Given the description of an element on the screen output the (x, y) to click on. 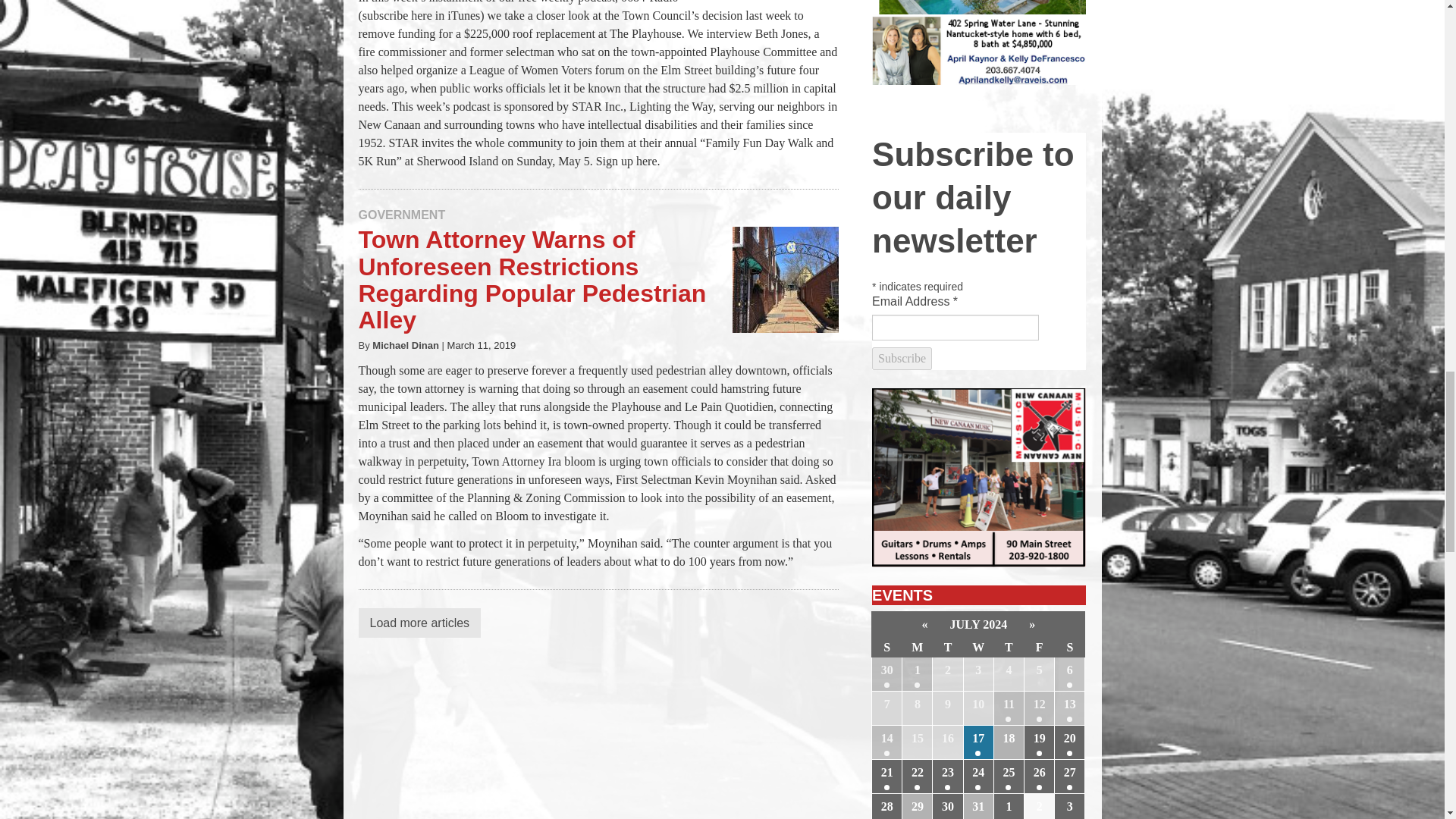
Subscribe (901, 358)
